Given the description of an element on the screen output the (x, y) to click on. 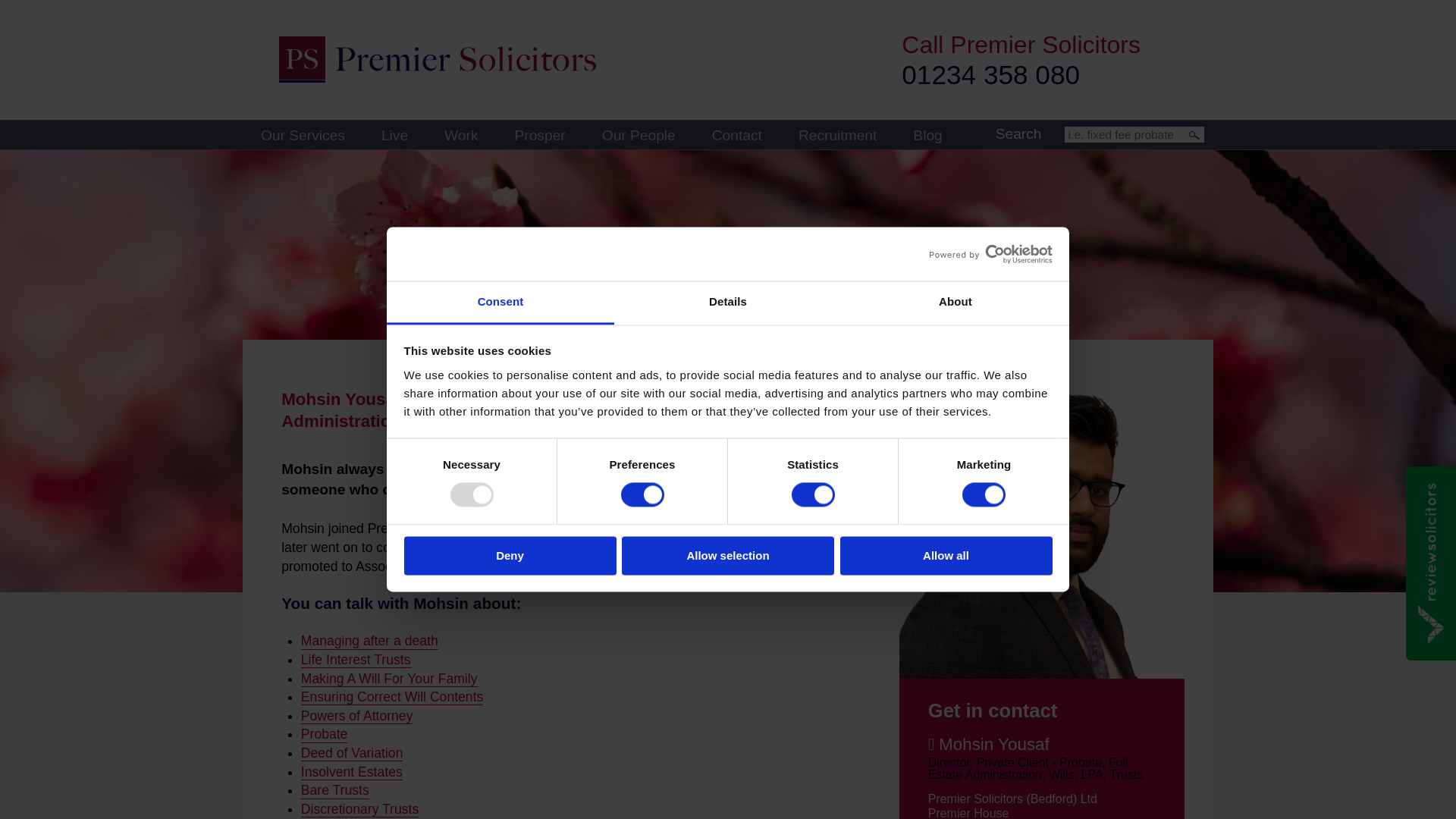
01234 358 080 (990, 74)
About (954, 302)
Allow all (946, 555)
Consent (500, 302)
Ensuring Correct Will Contents (392, 697)
Allow selection (727, 555)
Deny (509, 555)
Details (727, 302)
Making A Will For Your Family (389, 678)
Managing after a death (369, 641)
